Given the description of an element on the screen output the (x, y) to click on. 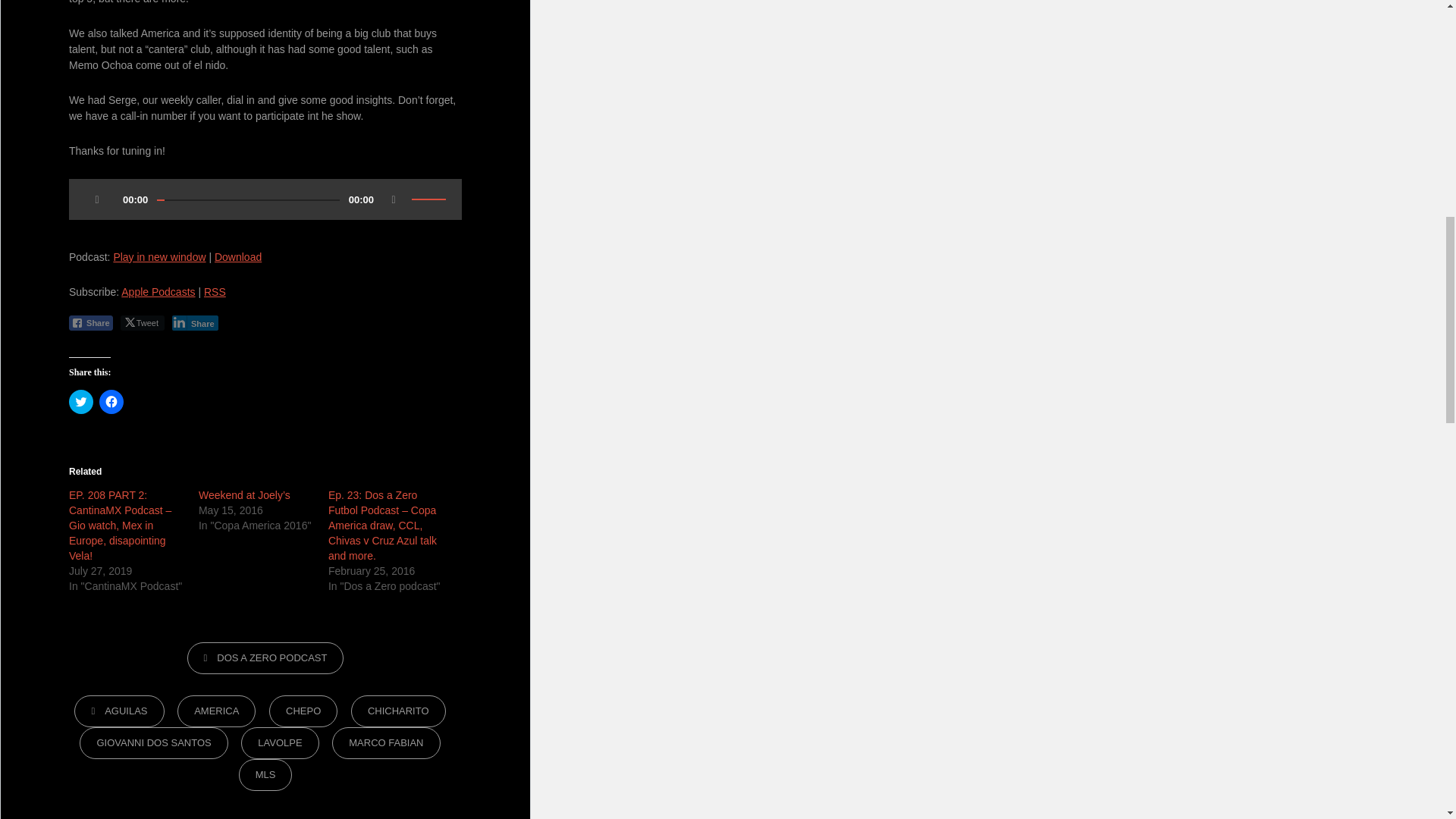
Play in new window (159, 256)
MARCO FABIAN (385, 743)
AGUILAS (118, 711)
Click to share on Twitter (80, 401)
Share (90, 322)
CHICHARITO (397, 711)
MLS (265, 775)
DOS A ZERO PODCAST (265, 658)
Click to share on Facebook (111, 401)
CHEPO (303, 711)
